Given the description of an element on the screen output the (x, y) to click on. 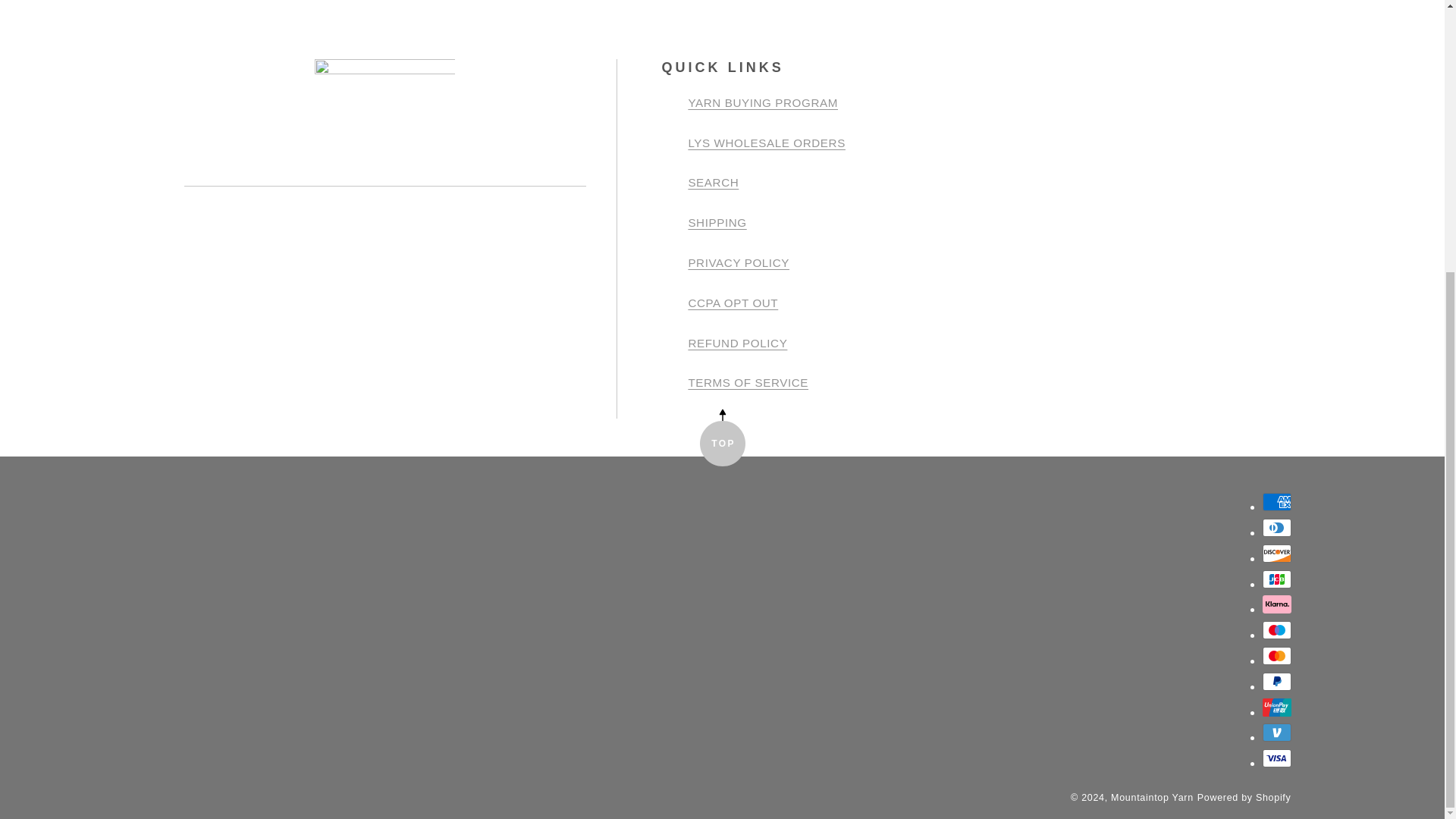
PayPal (1276, 681)
Klarna (1276, 604)
TOP (721, 443)
Diners Club (1276, 527)
TOP (721, 443)
Maestro (1276, 629)
American Express (1276, 502)
Mastercard (1276, 656)
Visa (1276, 758)
Union Pay (1276, 707)
Venmo (1276, 732)
JCB (1276, 579)
Discover (1276, 553)
